Given the description of an element on the screen output the (x, y) to click on. 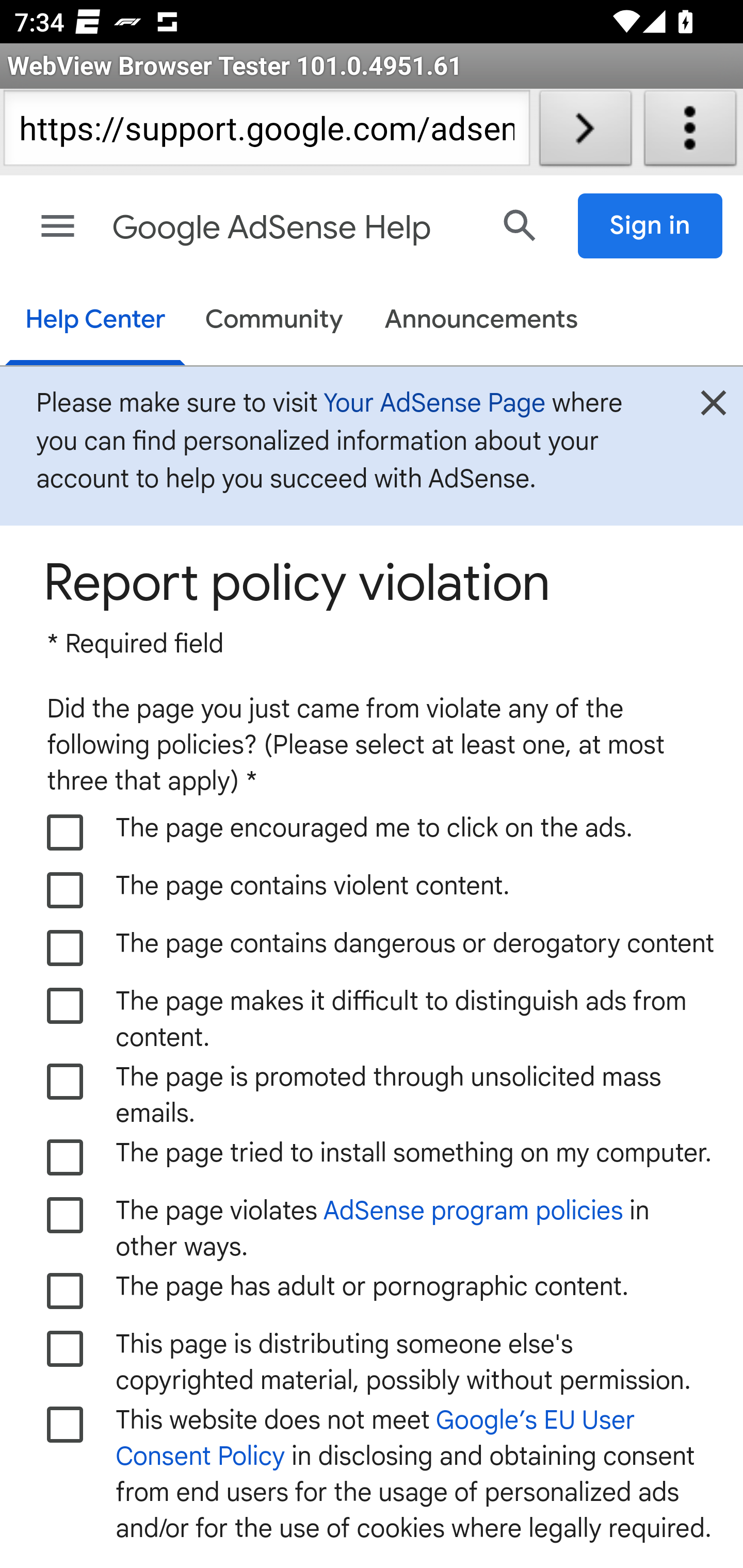
Load URL (585, 132)
About WebView (690, 132)
Main menu (58, 226)
Google AdSense Help (292, 227)
Search Help Center (519, 225)
Sign in (650, 226)
Help Center (94, 320)
Community (274, 320)
Announcements (480, 320)
Close (713, 408)
Your AdSense Page (433, 402)
The page encouraged me to click on the ads. (65, 832)
The page contains violent content. (65, 890)
The page contains dangerous or derogatory content (65, 948)
The page has adult or pornographic content. (65, 1291)
